Given the description of an element on the screen output the (x, y) to click on. 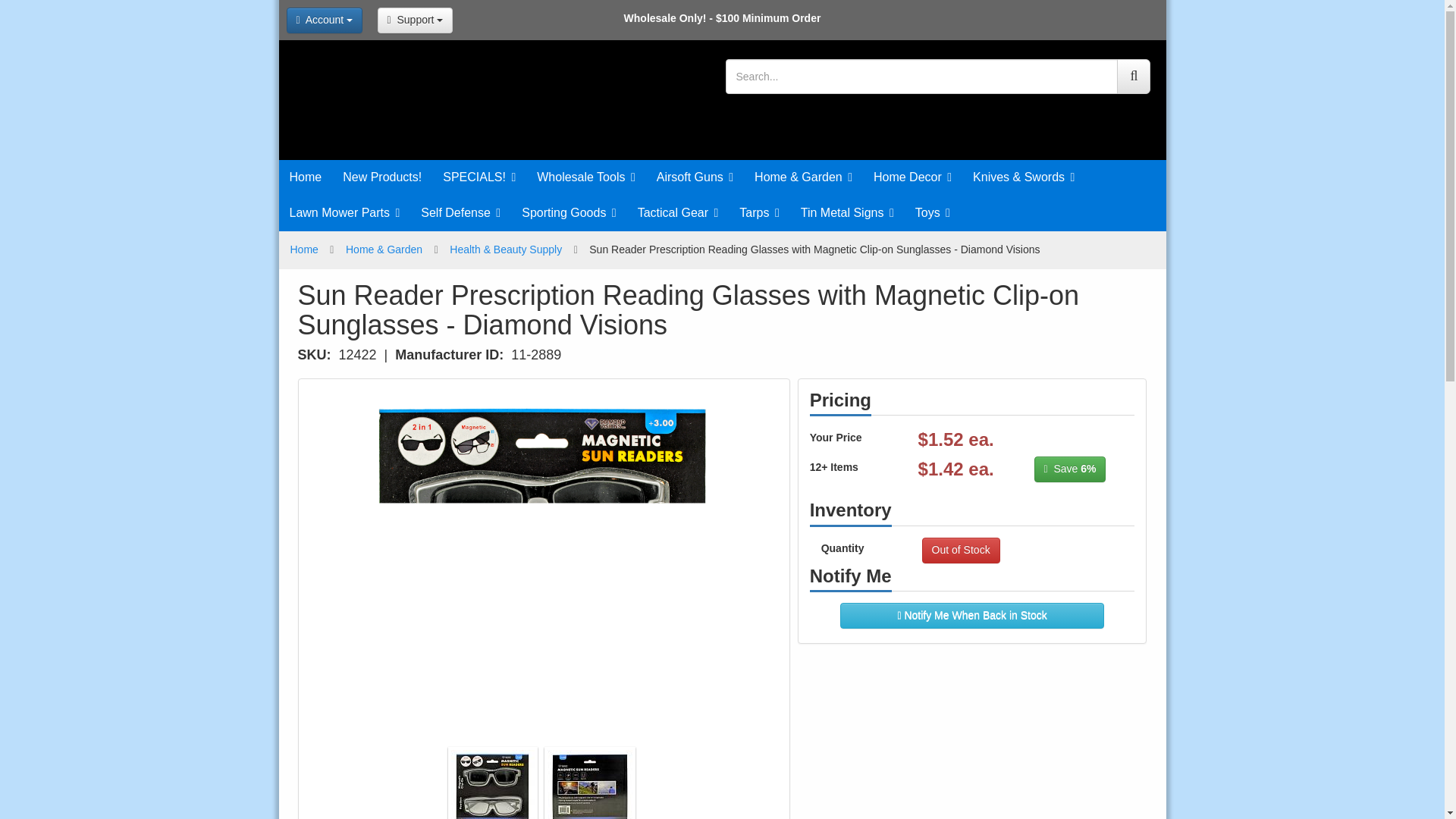
SPECIALS! (478, 177)
New Products! (381, 177)
  Support  (414, 20)
Wholesale Tools (585, 177)
Specials! (478, 177)
Home (306, 177)
  Account  (324, 20)
